Given the description of an element on the screen output the (x, y) to click on. 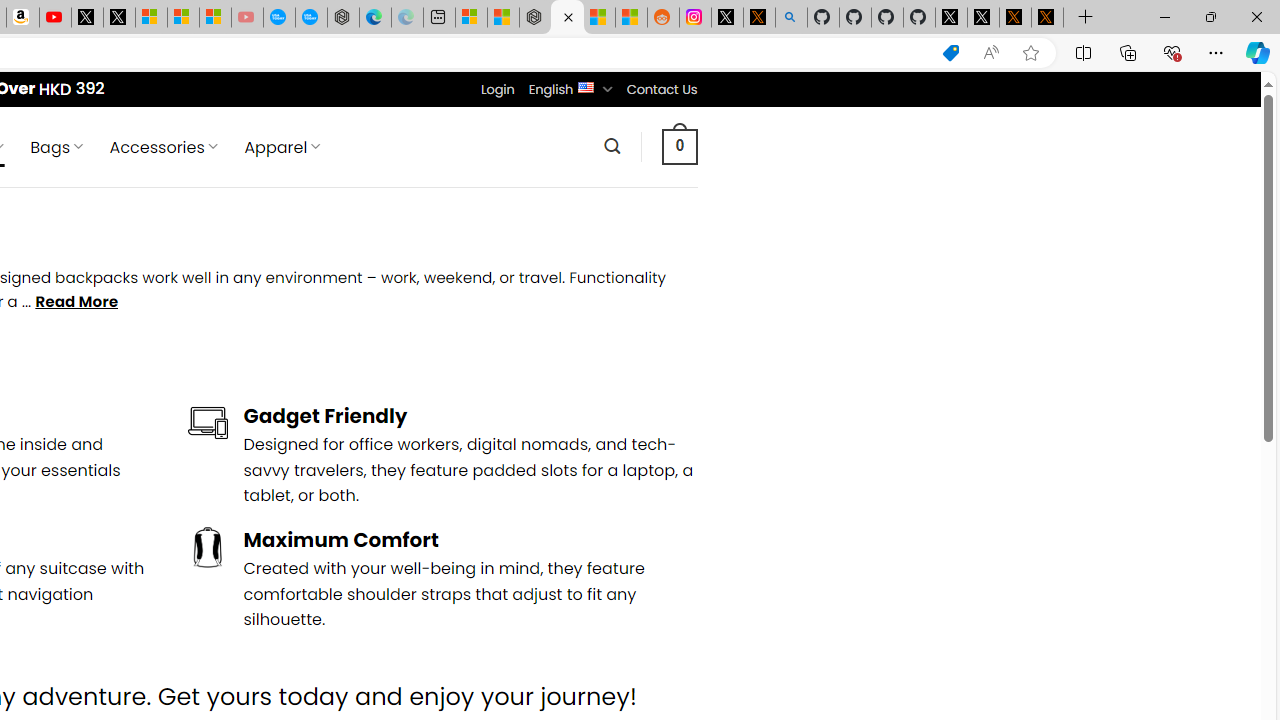
Log in to X / X (727, 17)
  0   (679, 146)
X Privacy Policy (1047, 17)
Profile / X (950, 17)
Nordace - Best Sellers (535, 17)
Contact Us (661, 89)
Day 1: Arriving in Yemen (surreal to be here) - YouTube (54, 17)
